Given the description of an element on the screen output the (x, y) to click on. 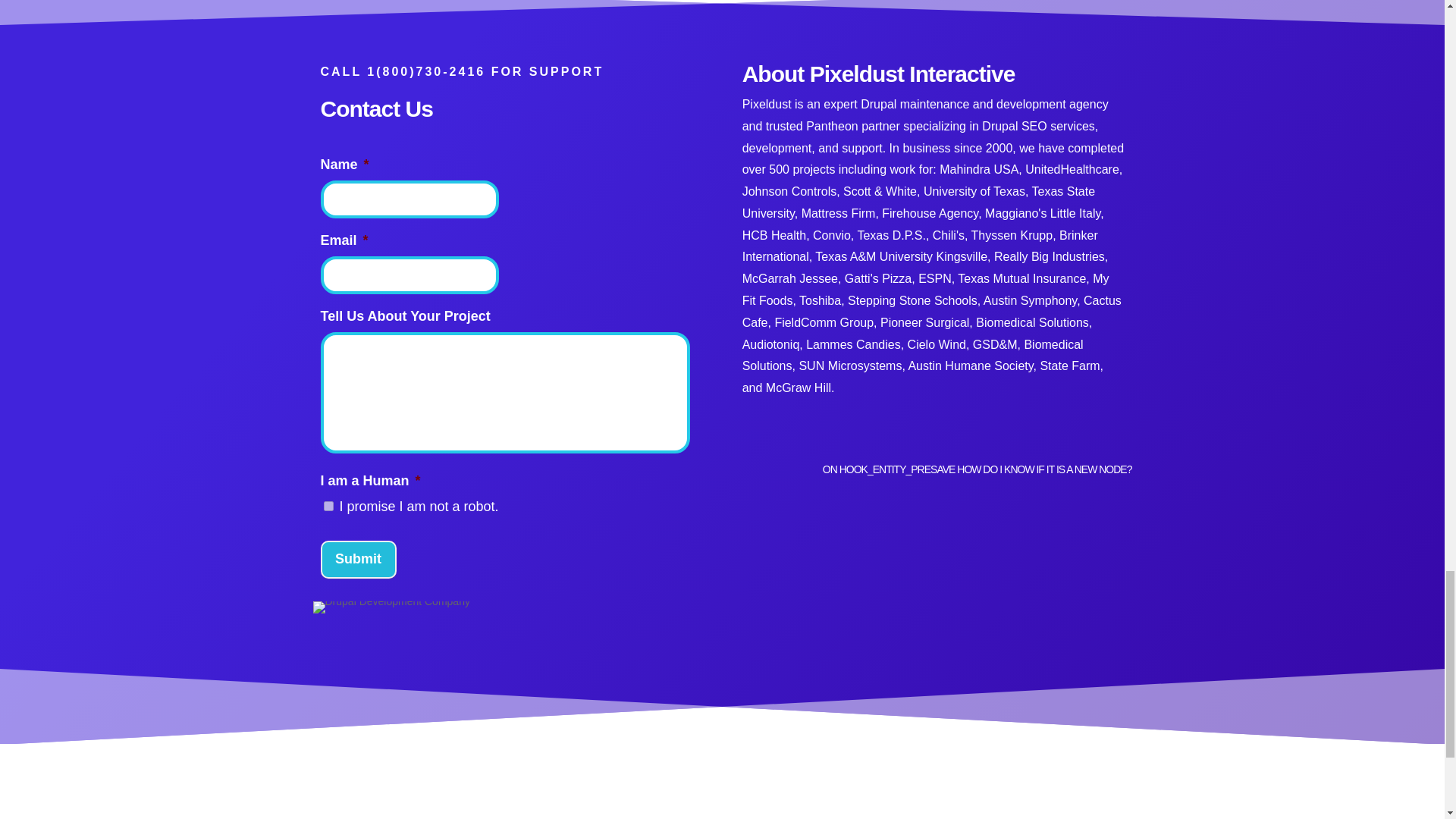
Submit (358, 559)
Submit (358, 559)
1 (328, 506)
